Given the description of an element on the screen output the (x, y) to click on. 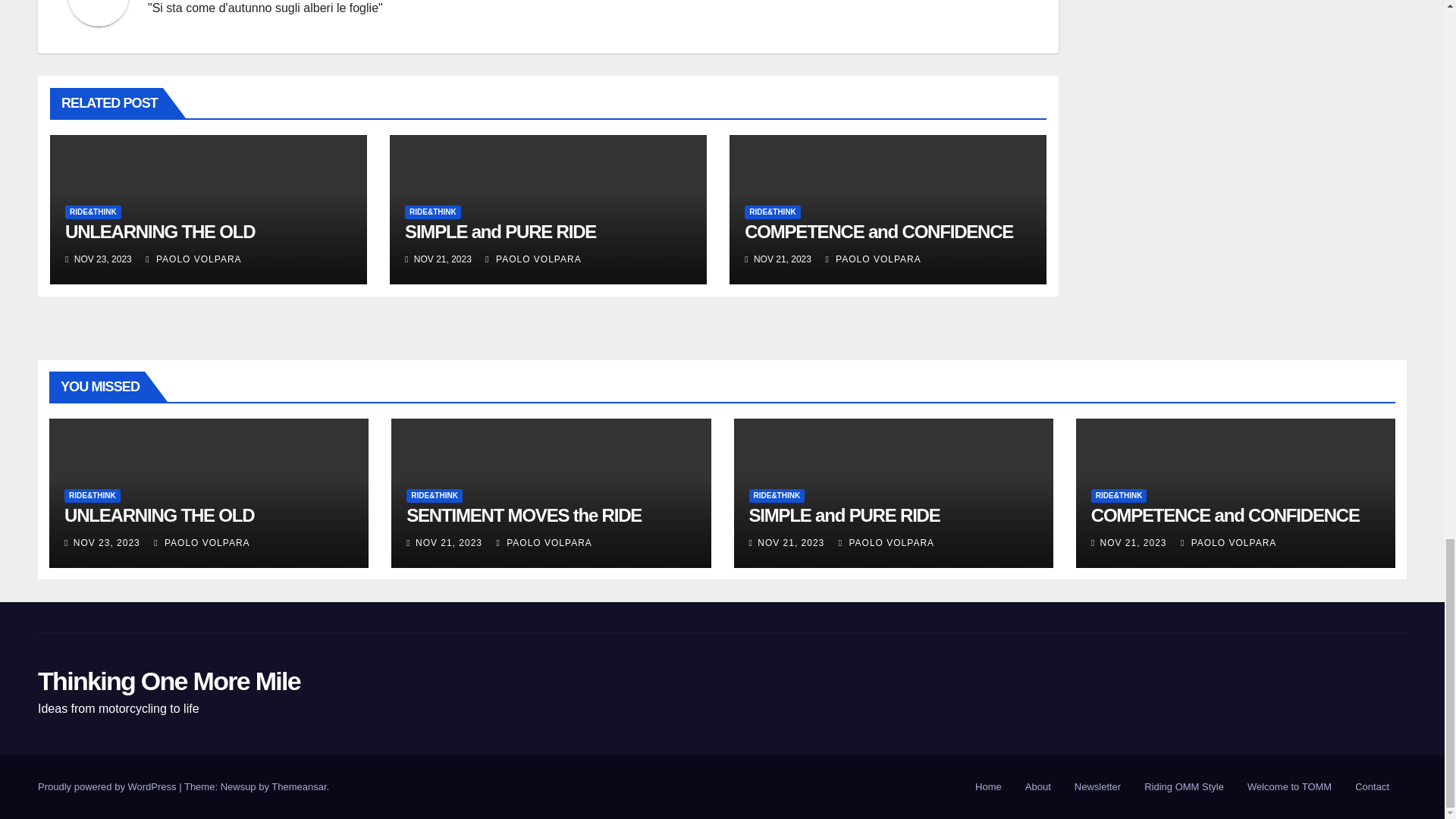
PAOLO VOLPARA (532, 258)
UNLEARNING THE OLD (159, 231)
PAOLO VOLPARA (193, 258)
Permalink to: UNLEARNING THE OLD (159, 231)
SIMPLE and PURE RIDE (499, 231)
Permalink to: SIMPLE and PURE RIDE (499, 231)
